Given the description of an element on the screen output the (x, y) to click on. 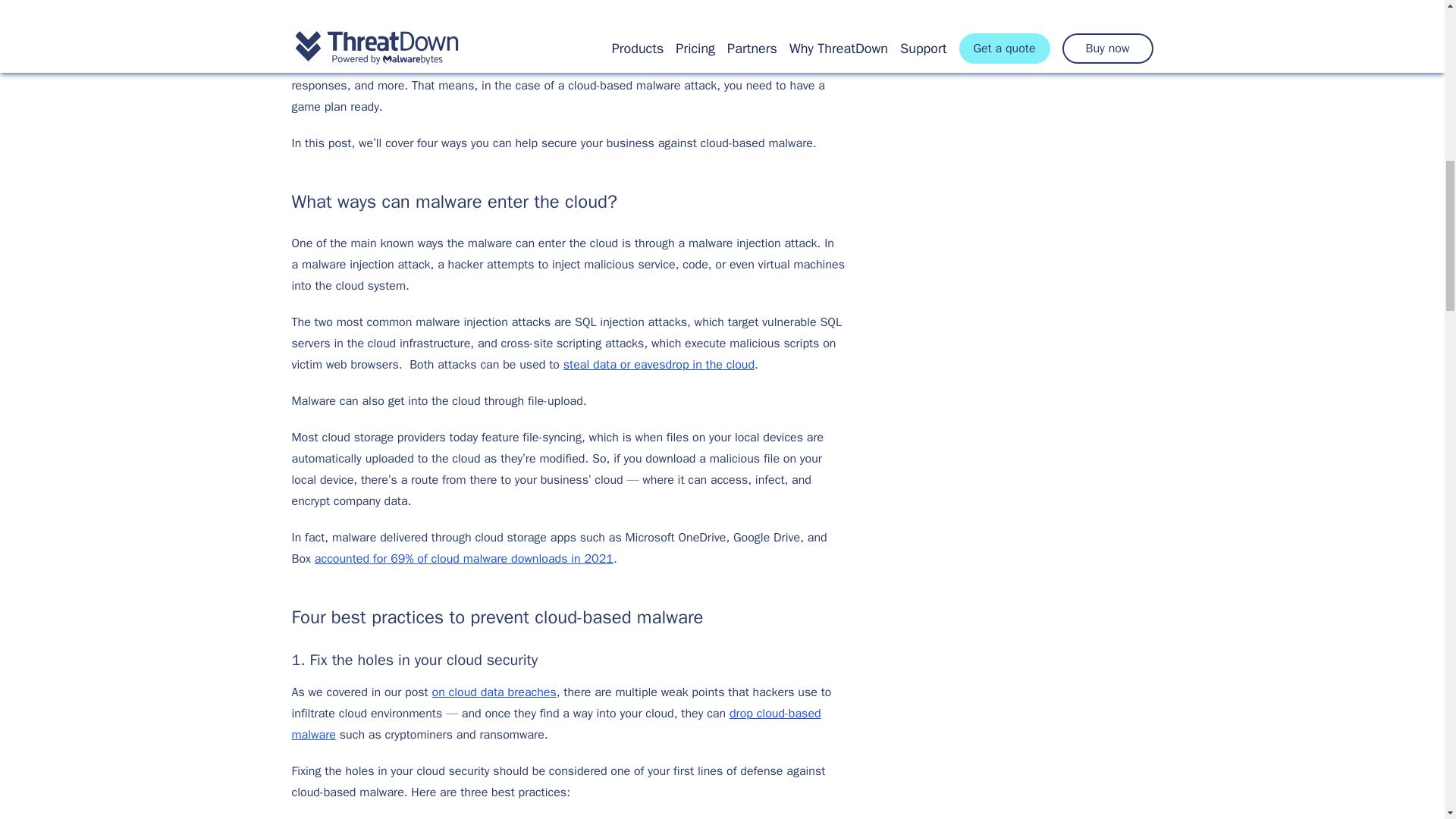
drop cloud-based malware (556, 723)
 the shared responsibility model (537, 54)
steal data or eavesdrop in the cloud (658, 364)
on cloud data breaches (494, 692)
